Given the description of an element on the screen output the (x, y) to click on. 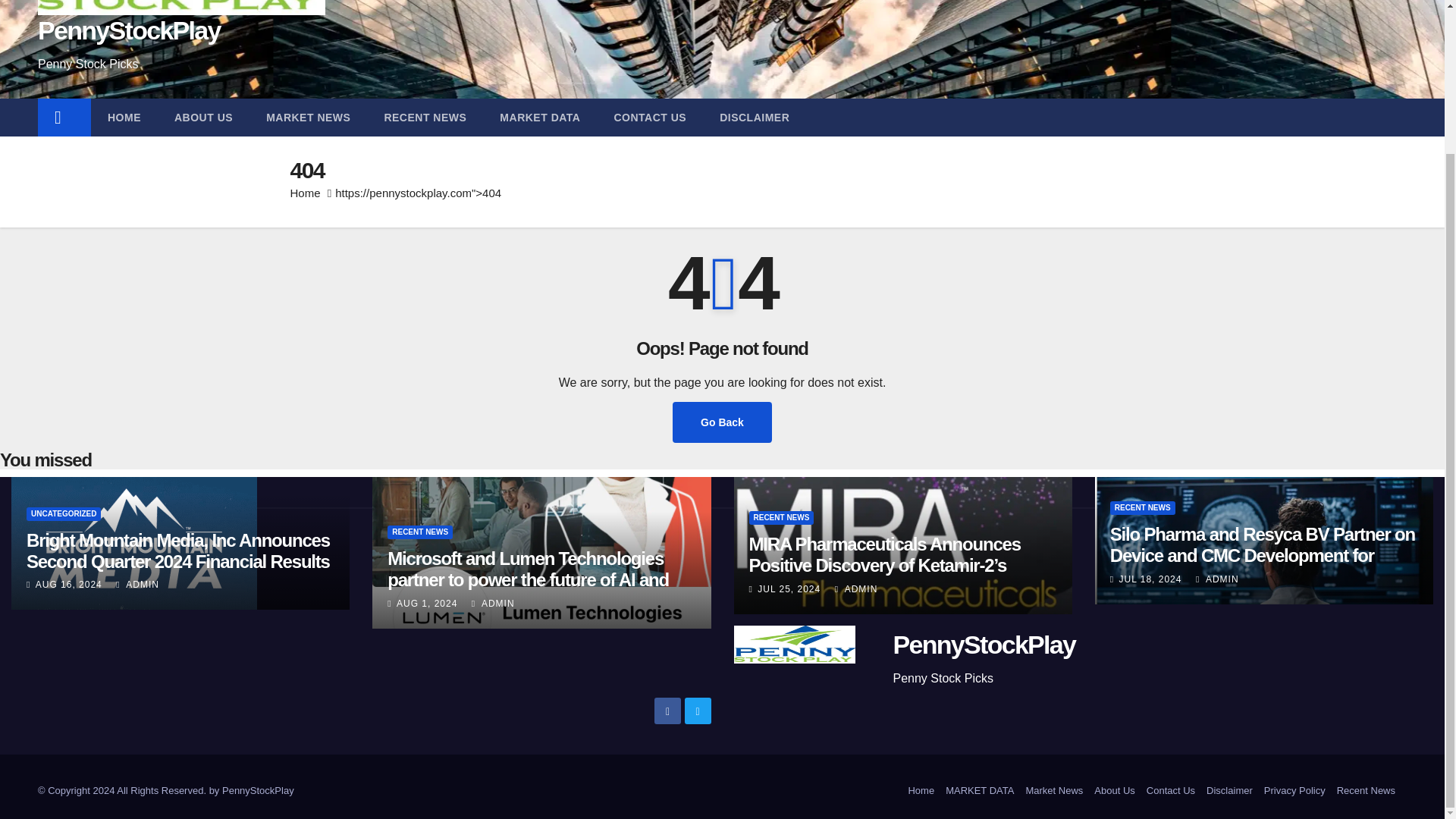
PennyStockPlay (984, 644)
JUL 18, 2024 (1149, 579)
RECENT NEWS (424, 117)
ADMIN (1217, 579)
DISCLAIMER (754, 117)
AUG 1, 2024 (426, 603)
